Given the description of an element on the screen output the (x, y) to click on. 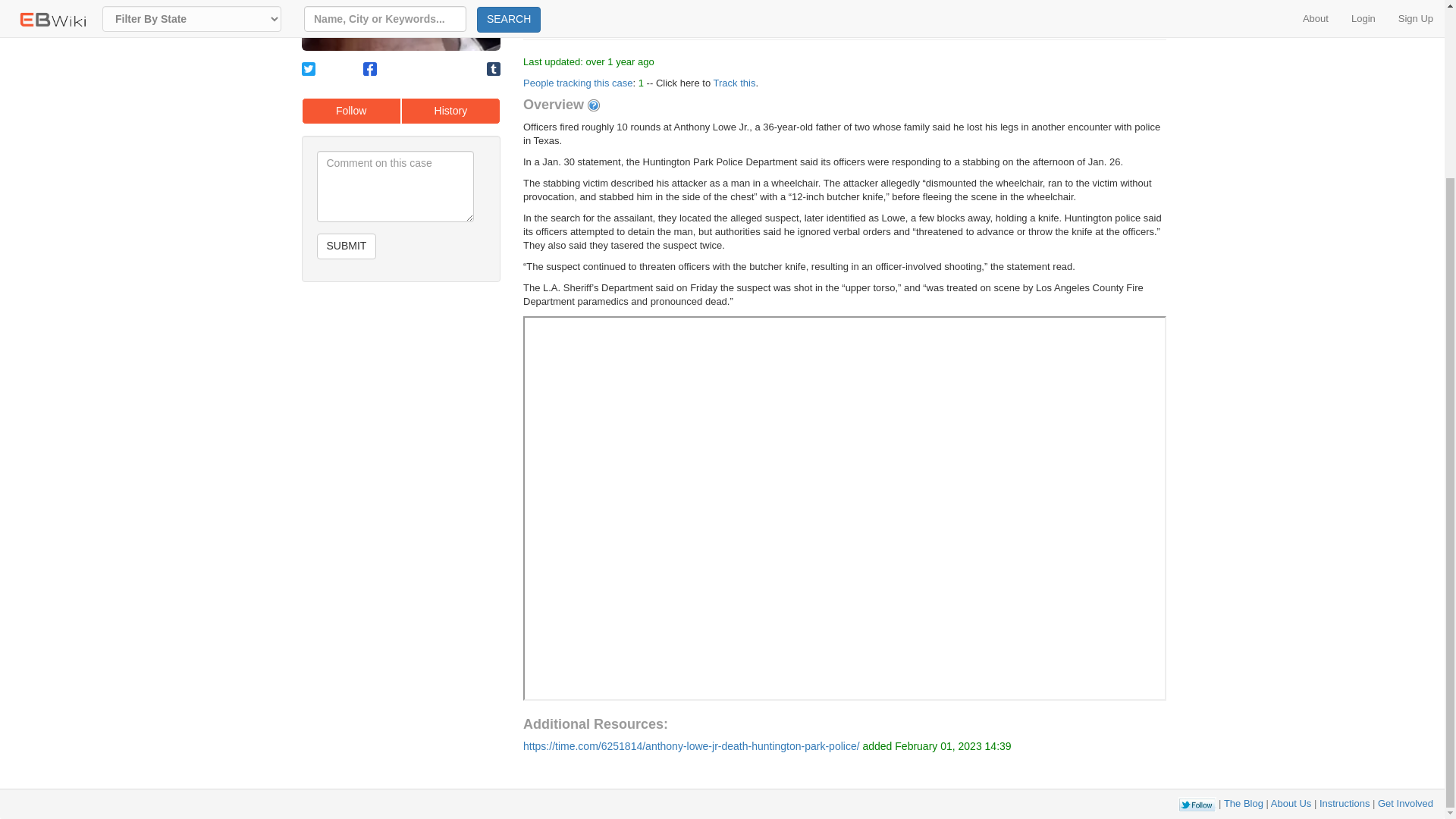
Share to Tumblr (493, 69)
Get Involved (1404, 803)
About Us (1291, 803)
Share to Facebook (369, 69)
Track this (734, 82)
SUBMIT (347, 246)
History (450, 111)
Follow This Case (587, 14)
People tracking this case (577, 82)
The Blog (1243, 803)
Follow (351, 111)
Share to Twitter (308, 69)
History (450, 111)
Follow (351, 111)
Instructions (1344, 803)
